Given the description of an element on the screen output the (x, y) to click on. 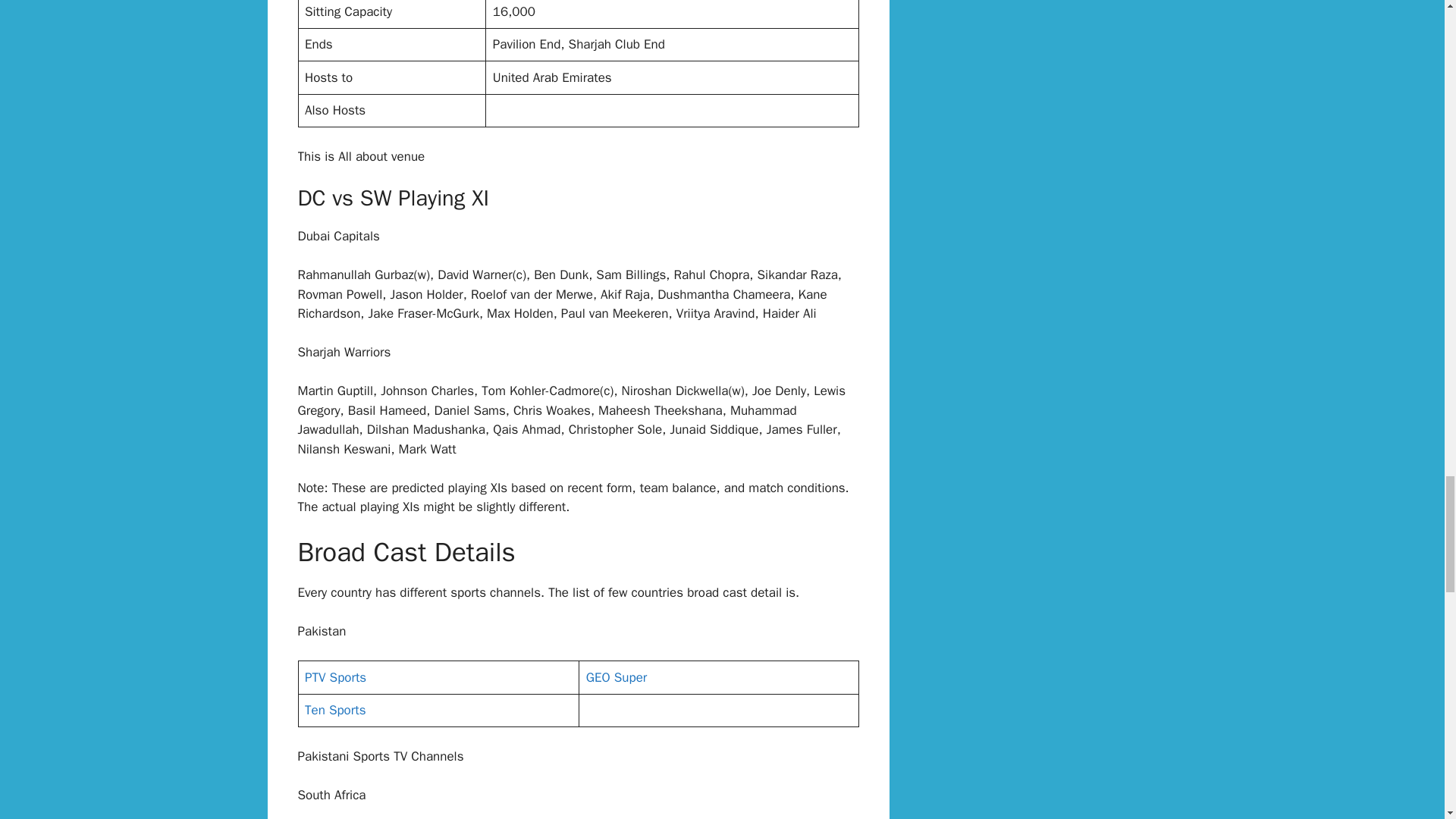
GEO Super (616, 677)
Ten Sports (334, 709)
PTV Sports (335, 677)
